Given the description of an element on the screen output the (x, y) to click on. 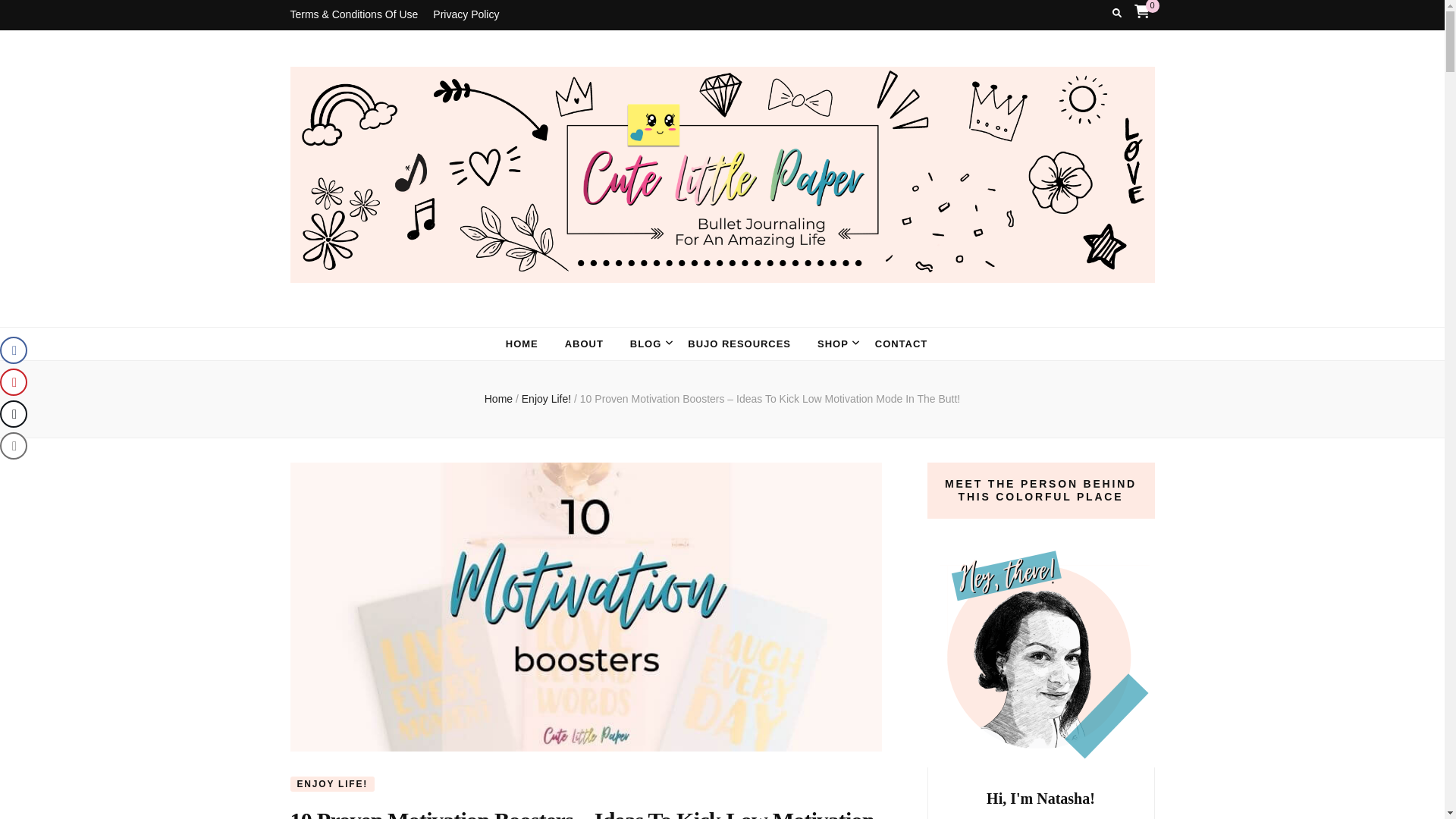
SHOP (832, 343)
Privacy Policy (465, 15)
BLOG (645, 343)
CONTACT (901, 343)
Enjoy Life! (547, 398)
Cute Little Paper (449, 314)
HOME (521, 343)
ABOUT (584, 343)
ENJOY LIFE! (331, 783)
0 (1142, 11)
View your shopping cart (1142, 11)
BUJO RESOURCES (738, 343)
Home (498, 398)
